Given the description of an element on the screen output the (x, y) to click on. 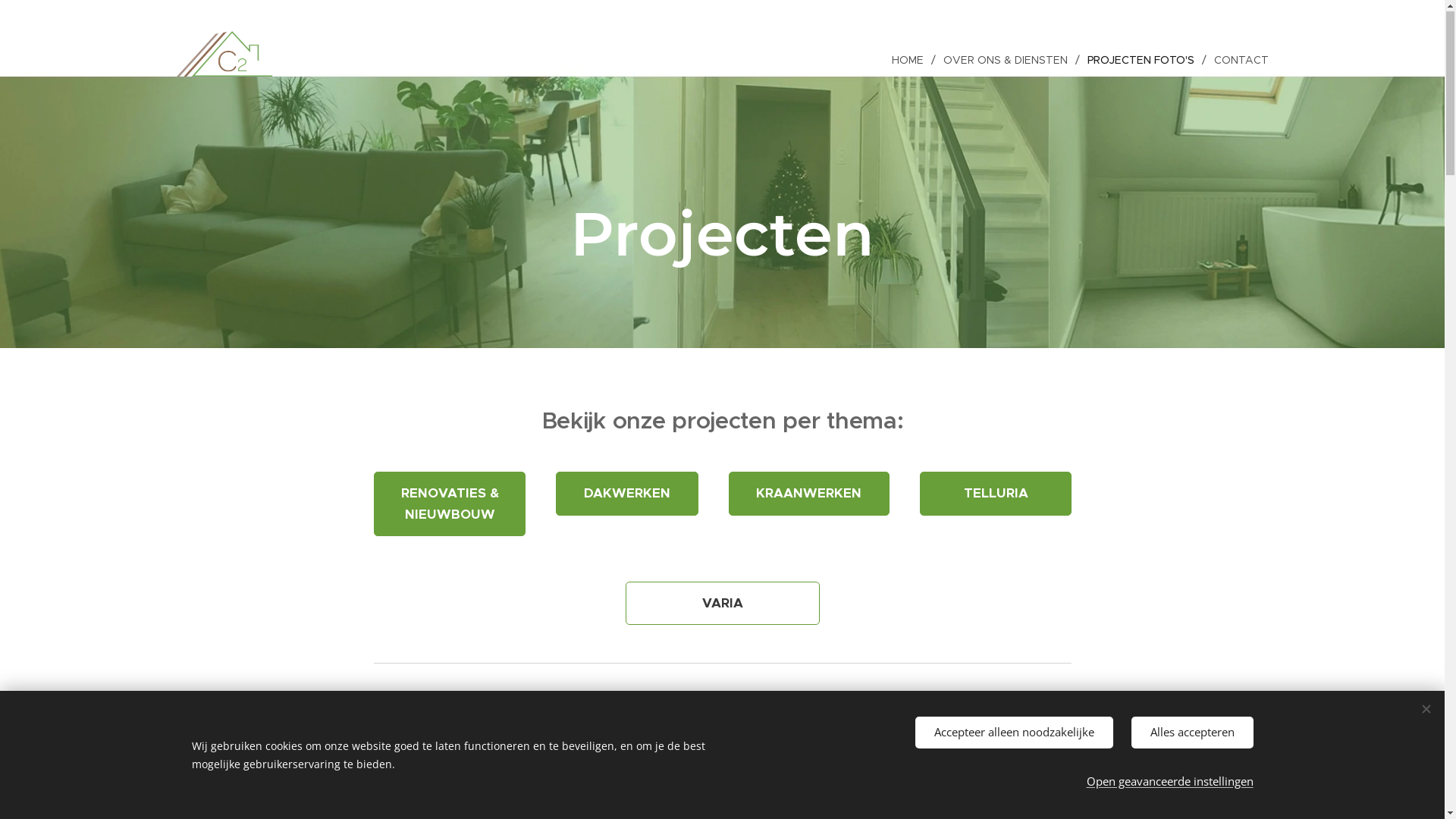
CONTACT Element type: text (1236, 60)
RENOVATIES & NIEUWBOUW Element type: text (448, 504)
VARIA Element type: text (721, 604)
Open geavanceerde instellingen Element type: text (1168, 781)
Alles accepteren Element type: text (1192, 732)
HOME Element type: text (911, 60)
TELLURIA Element type: text (994, 494)
PROJECTEN FOTO'S Element type: text (1142, 60)
OVER ONS & DIENSTEN Element type: text (1007, 60)
KRAANWERKEN Element type: text (808, 494)
DAKWERKEN Element type: text (626, 494)
Accepteer alleen noodzakelijke Element type: text (1013, 732)
